Given the description of an element on the screen output the (x, y) to click on. 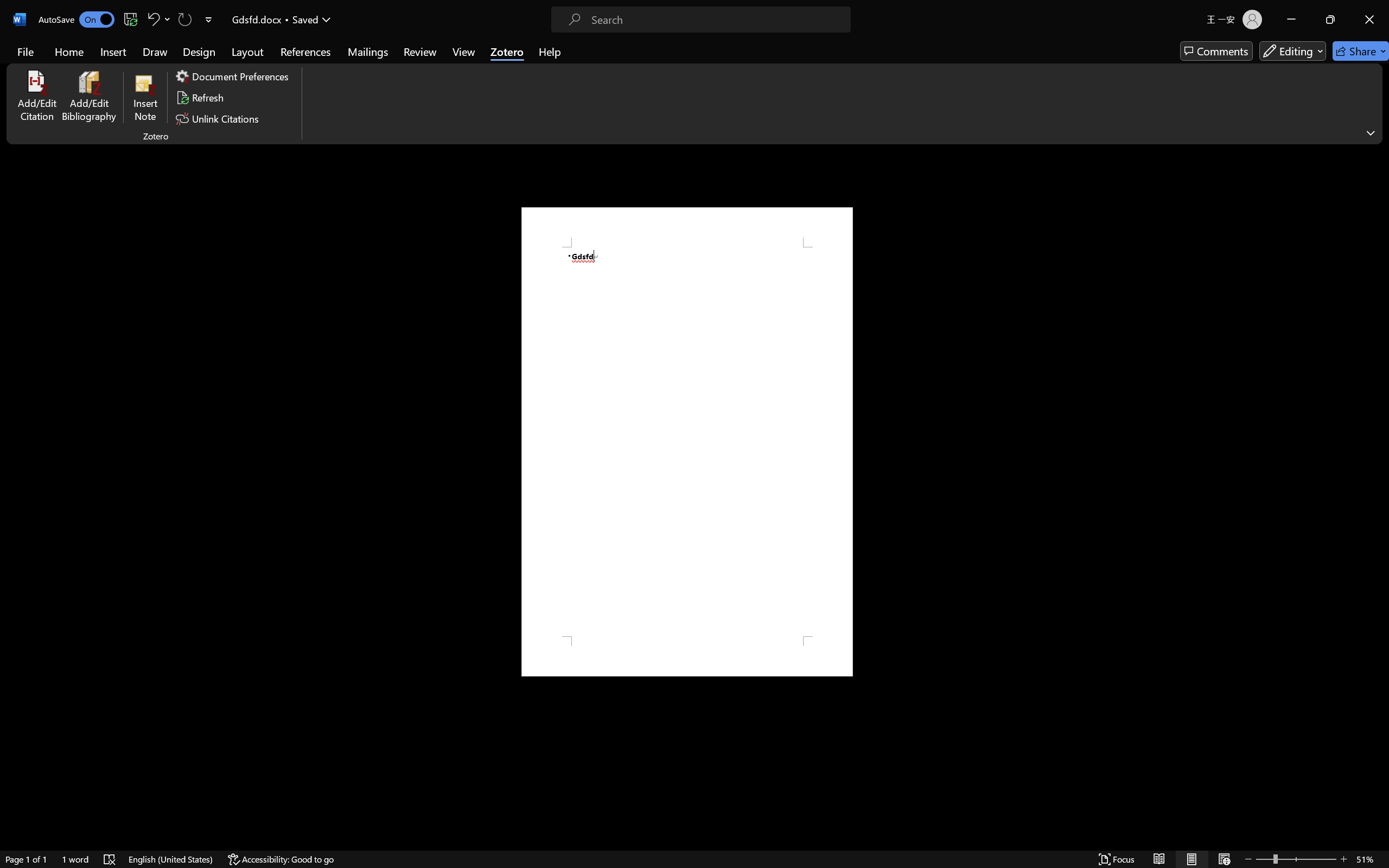
AutomationID: 4105 (1237, 855)
Spell Check No Errors (52, 837)
Cameo (49, 62)
Cancel (722, 477)
Slide (119, 311)
Accessibility (1377, 156)
From Beginning... (85, 62)
Q2790: 100% (1287, 855)
TextBox 7 (784, 433)
